Given the description of an element on the screen output the (x, y) to click on. 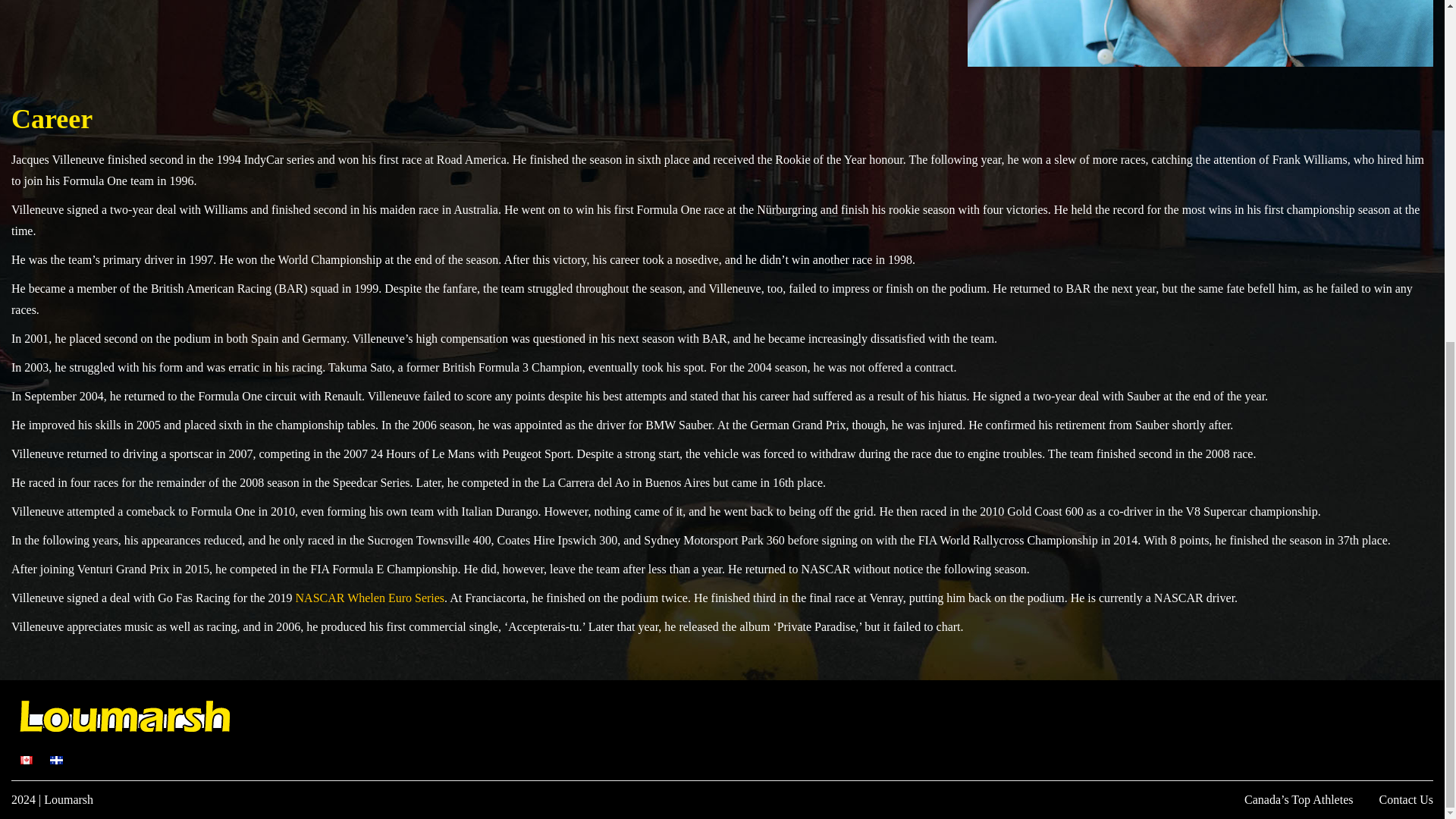
Contact Us (1405, 799)
NASCAR Whelen Euro Series (370, 597)
